Given the description of an element on the screen output the (x, y) to click on. 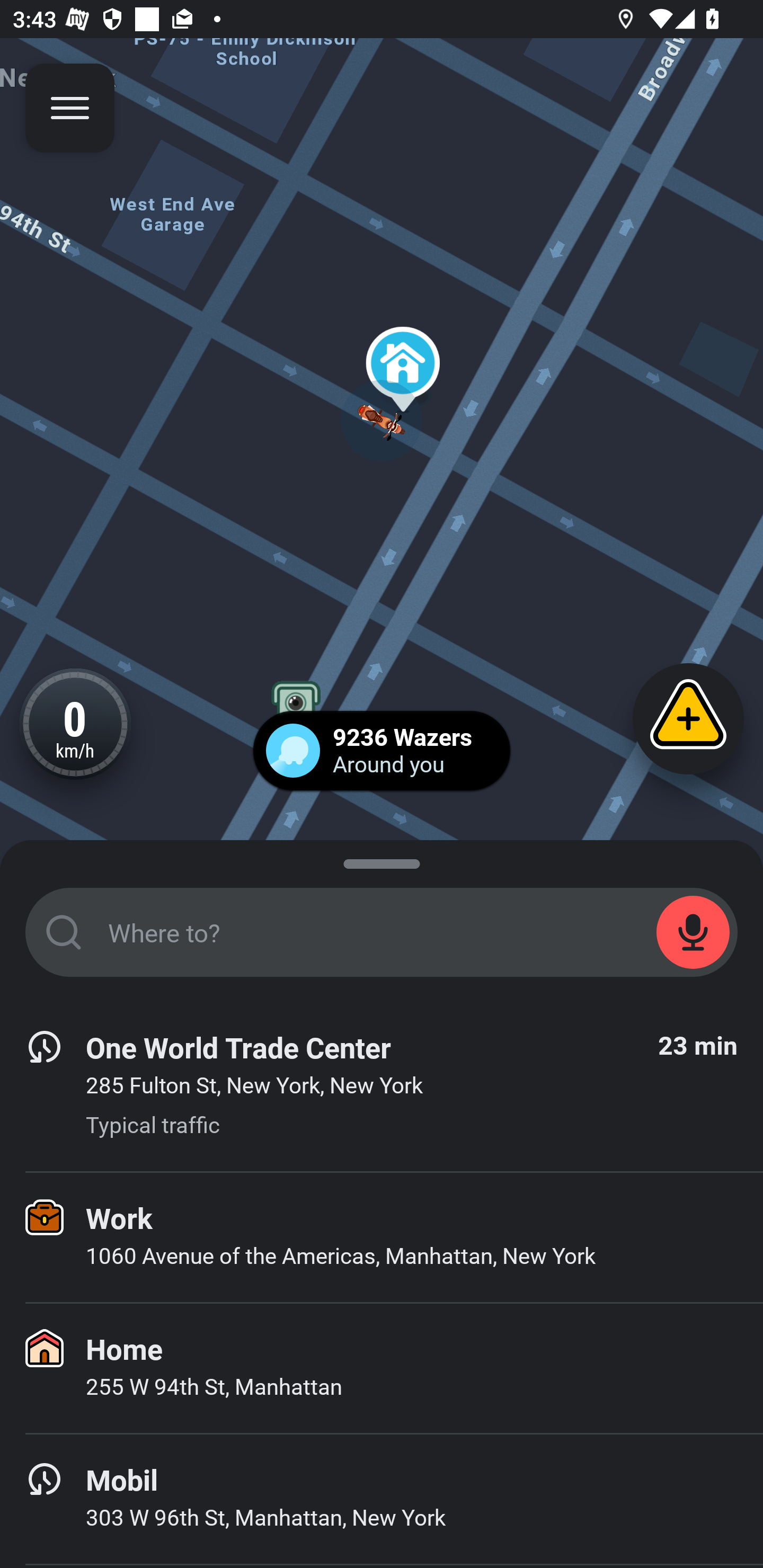
SUGGESTIONS_SHEET_DRAG_HANDLE (381, 860)
START_STATE_SEARCH_FIELD Where to? (381, 931)
Home 255 W 94th St, Manhattan (381, 1368)
Mobil 303 W 96th St, Manhattan, New York (381, 1498)
